Given the description of an element on the screen output the (x, y) to click on. 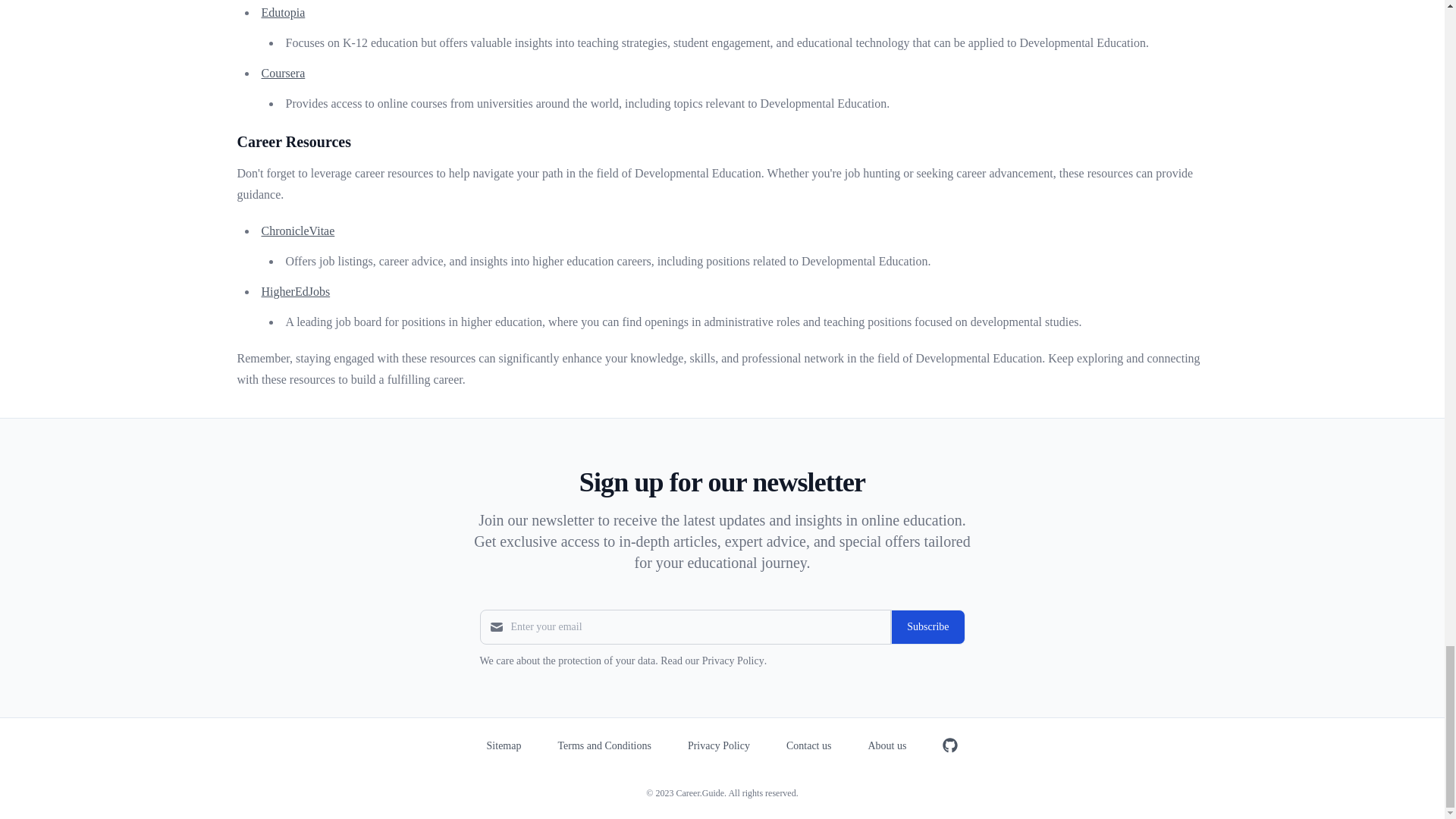
Read our Privacy Policy (711, 660)
HigherEdJobs (295, 291)
Contact us (808, 745)
Privacy Policy (718, 745)
Terms and Conditions (603, 745)
About us (886, 745)
ChronicleVitae (297, 230)
Coursera (282, 72)
Edutopia (282, 11)
Sitemap (503, 745)
Subscribe (927, 626)
